Given the description of an element on the screen output the (x, y) to click on. 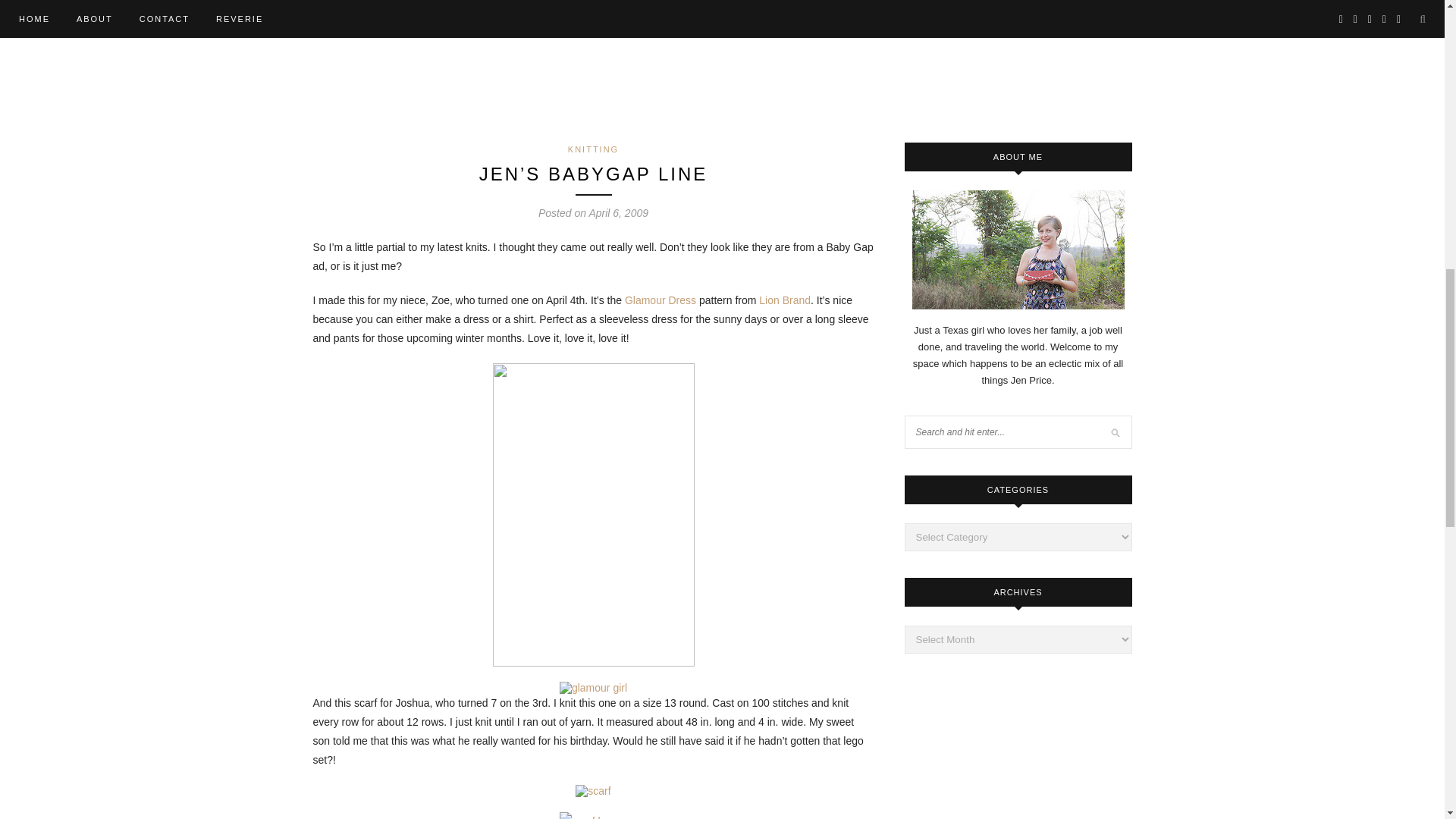
KNITTING (592, 148)
scarf by i believe in love, on Flickr (592, 790)
scarf happy by i believe in love, on Flickr (592, 816)
Lion Brand (784, 300)
Glamour Dress (659, 300)
glamour girl by i believe in love, on Flickr (593, 687)
